Given the description of an element on the screen output the (x, y) to click on. 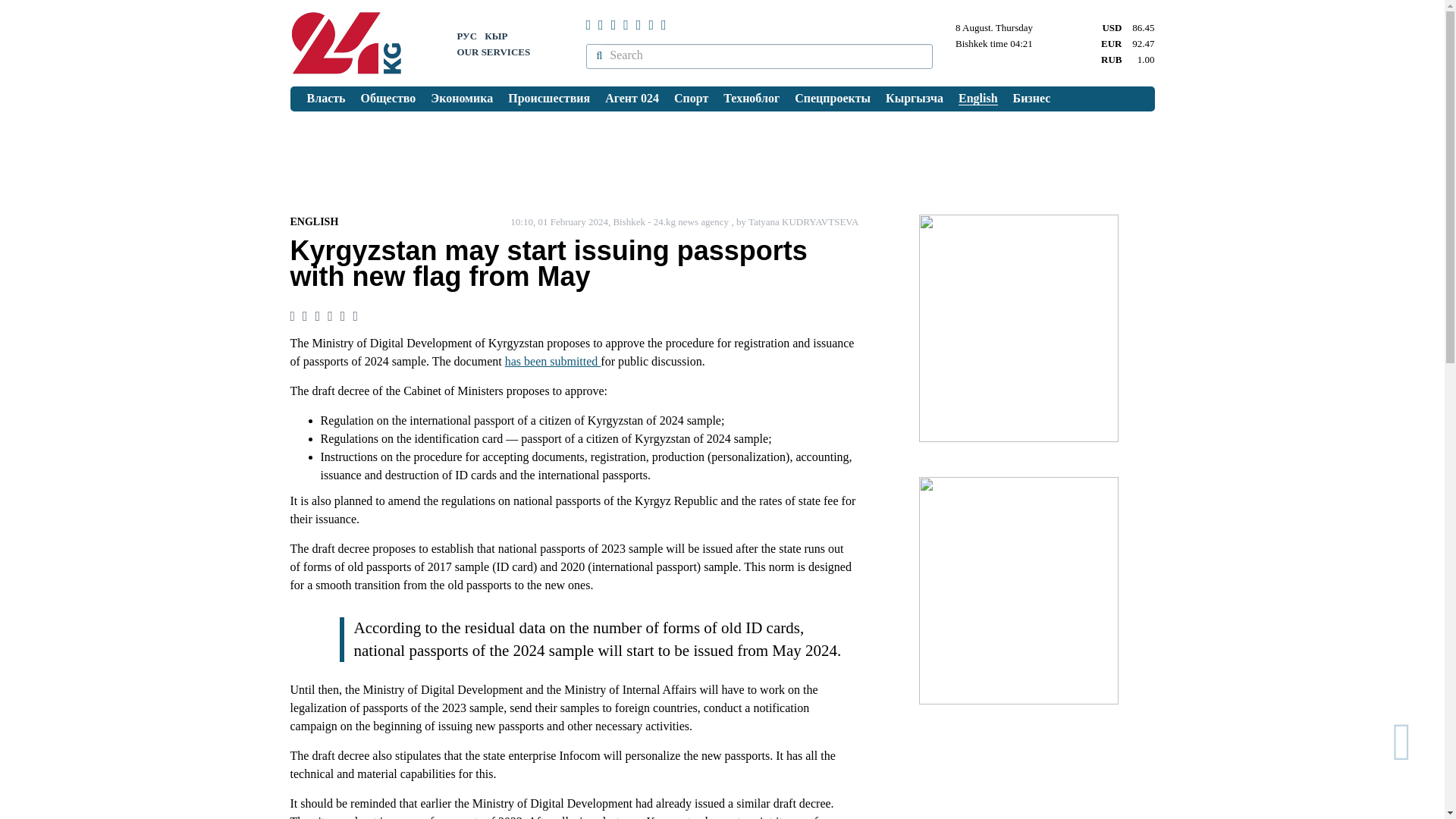
English (978, 98)
OUR SERVICES (493, 51)
has been submitted (553, 360)
ENGLISH (313, 221)
